Given the description of an element on the screen output the (x, y) to click on. 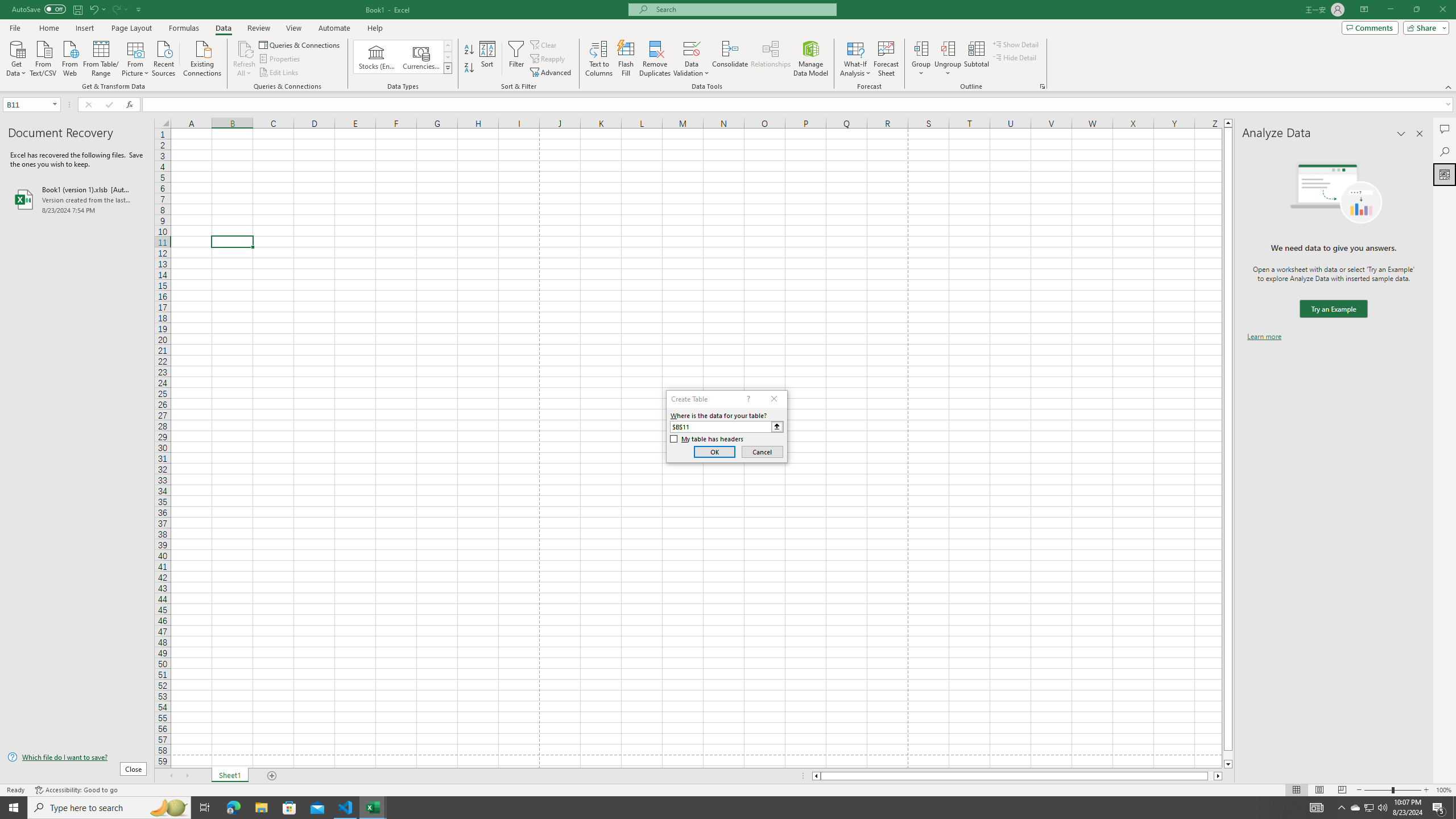
Sort... (487, 58)
Row up (448, 45)
From Table/Range (100, 57)
From Picture (135, 57)
Remove Duplicates (654, 58)
